Given the description of an element on the screen output the (x, y) to click on. 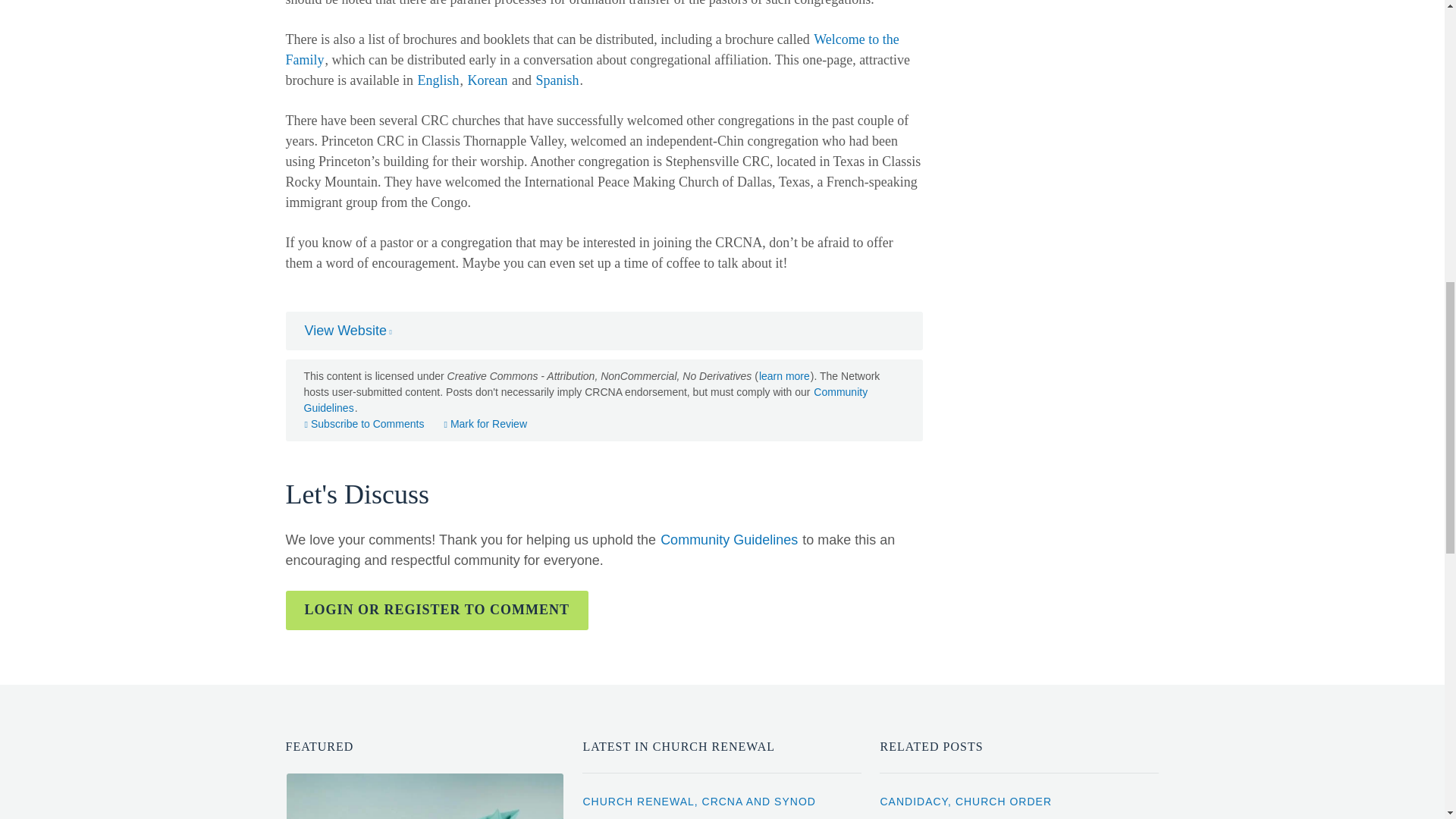
Welcome to the Family (591, 49)
LOGIN OR REGISTER TO COMMENT (436, 609)
learn more (784, 376)
Korean (486, 80)
View Website (346, 330)
English (438, 80)
Community Guidelines (584, 399)
Community Guidelines (728, 539)
Spanish (556, 80)
Subscribe to Comments (363, 423)
